Given the description of an element on the screen output the (x, y) to click on. 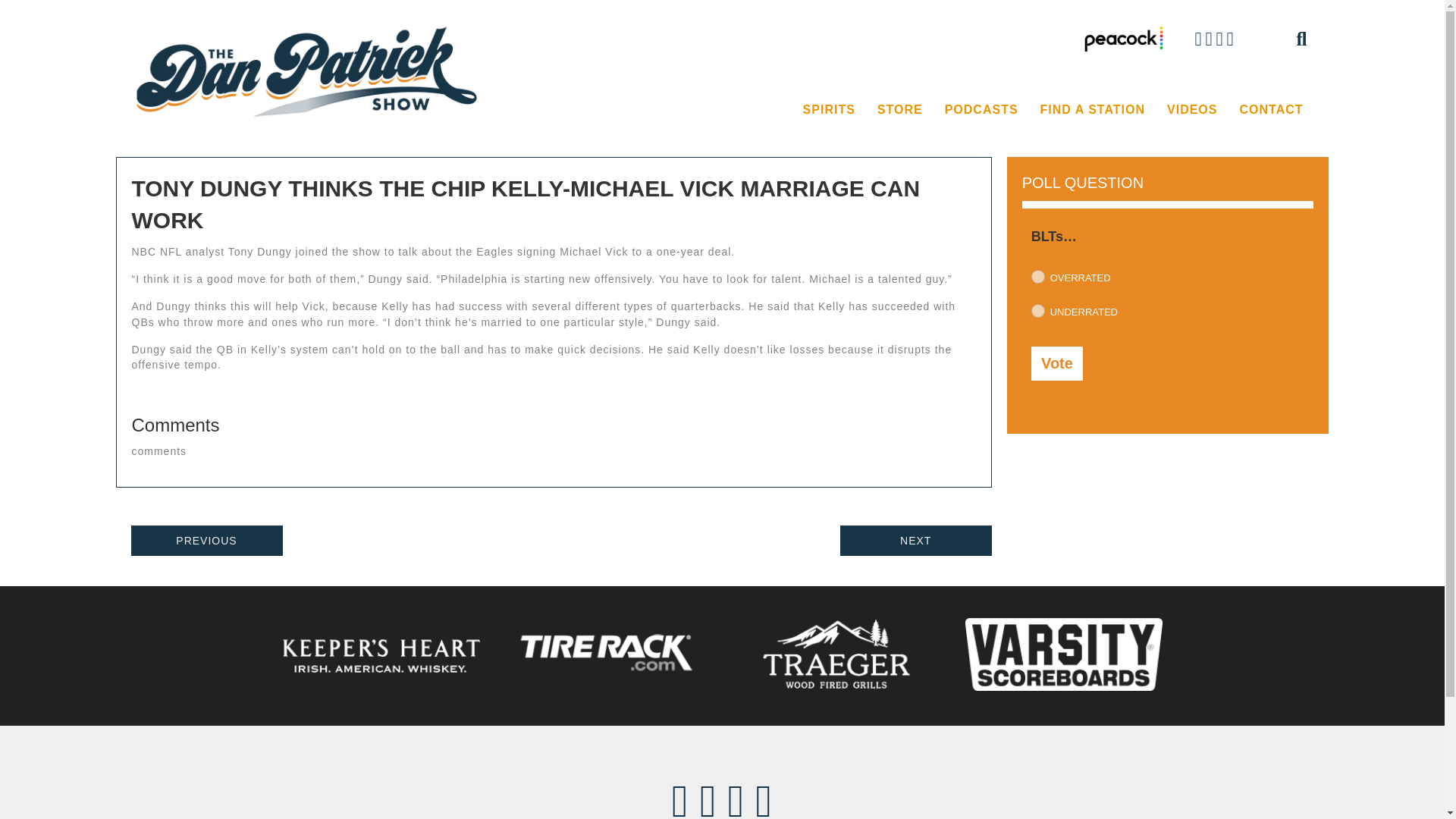
FIND A STATION (1092, 109)
Varsity-logo (1062, 653)
NEXT (915, 540)
STORE (899, 109)
PODCASTS (981, 109)
SPIRITS (829, 109)
CONTACT (1270, 109)
63177633 (1037, 276)
TireRackCom.whitegrey-250 (607, 653)
PREVIOUS (206, 540)
